Given the description of an element on the screen output the (x, y) to click on. 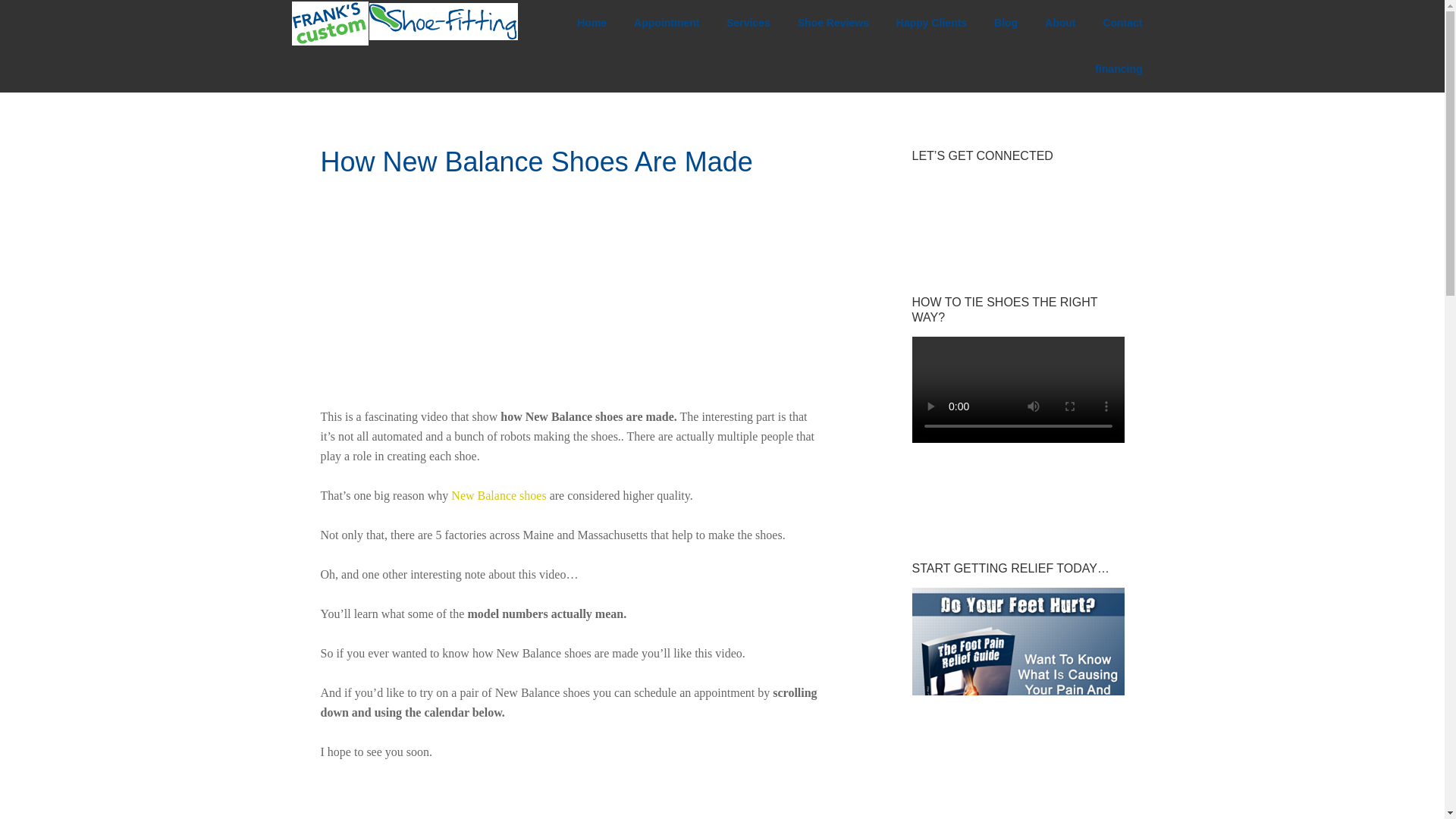
Appointment (666, 22)
About (1059, 22)
financing (1118, 68)
Services (748, 22)
Happy Clients (930, 22)
Blog (1005, 22)
Contact (1122, 22)
Home (591, 22)
New Balance shoes (498, 495)
Shoe Reviews (833, 22)
